Given the description of an element on the screen output the (x, y) to click on. 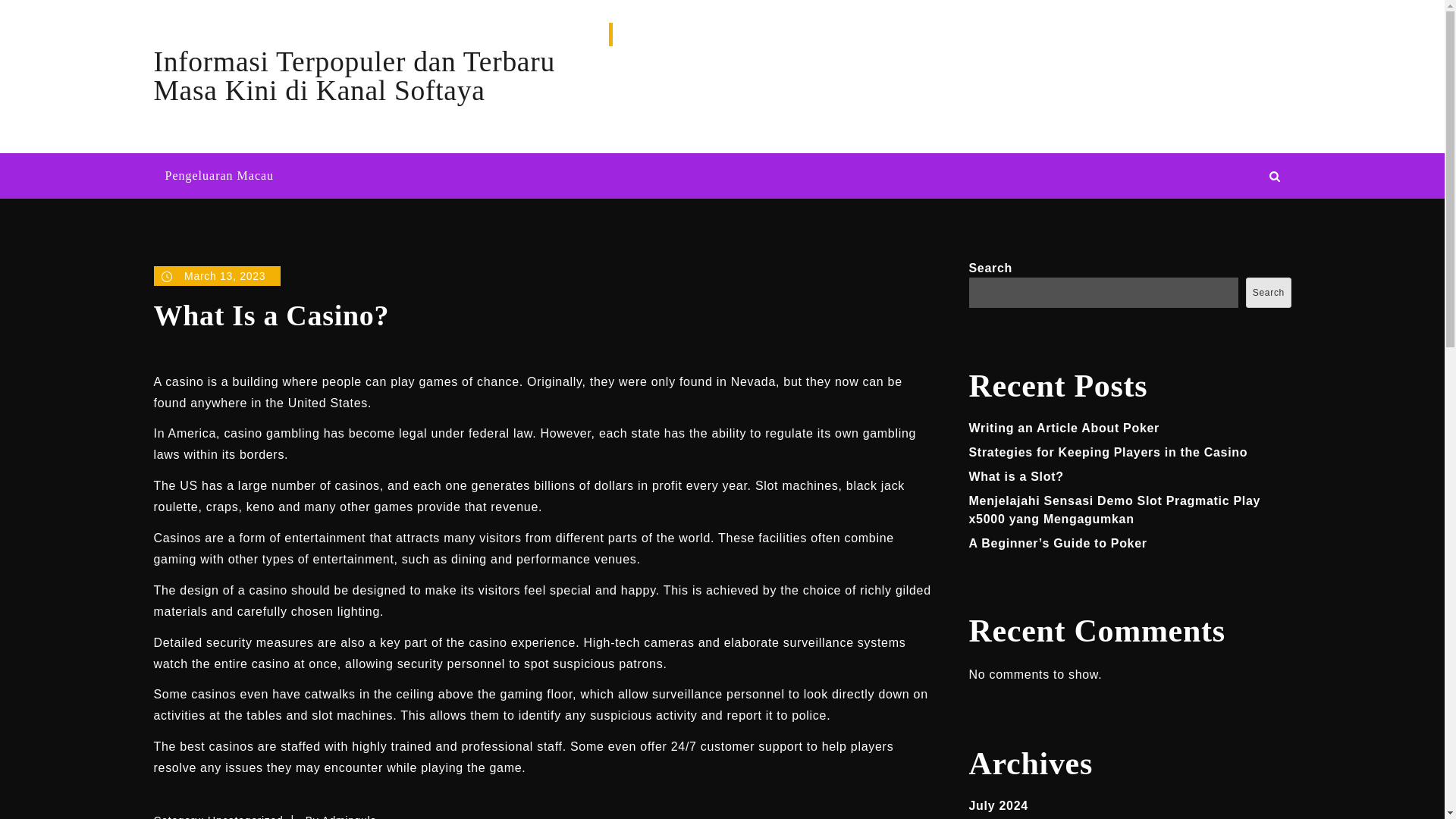
Informasi Terpopuler dan Terbaru Masa Kini di Kanal Softaya (353, 75)
Pengeluaran Macau (218, 176)
Strategies for Keeping Players in the Casino (1108, 451)
Writing an Article About Poker (1064, 427)
Uncategorized (245, 816)
What is a Slot? (1016, 476)
July 2024 (998, 805)
Admingula (348, 816)
March 13, 2023 (216, 275)
Search (1268, 292)
apostlesofjesusmissionaries.com (1194, 110)
